Given the description of an element on the screen output the (x, y) to click on. 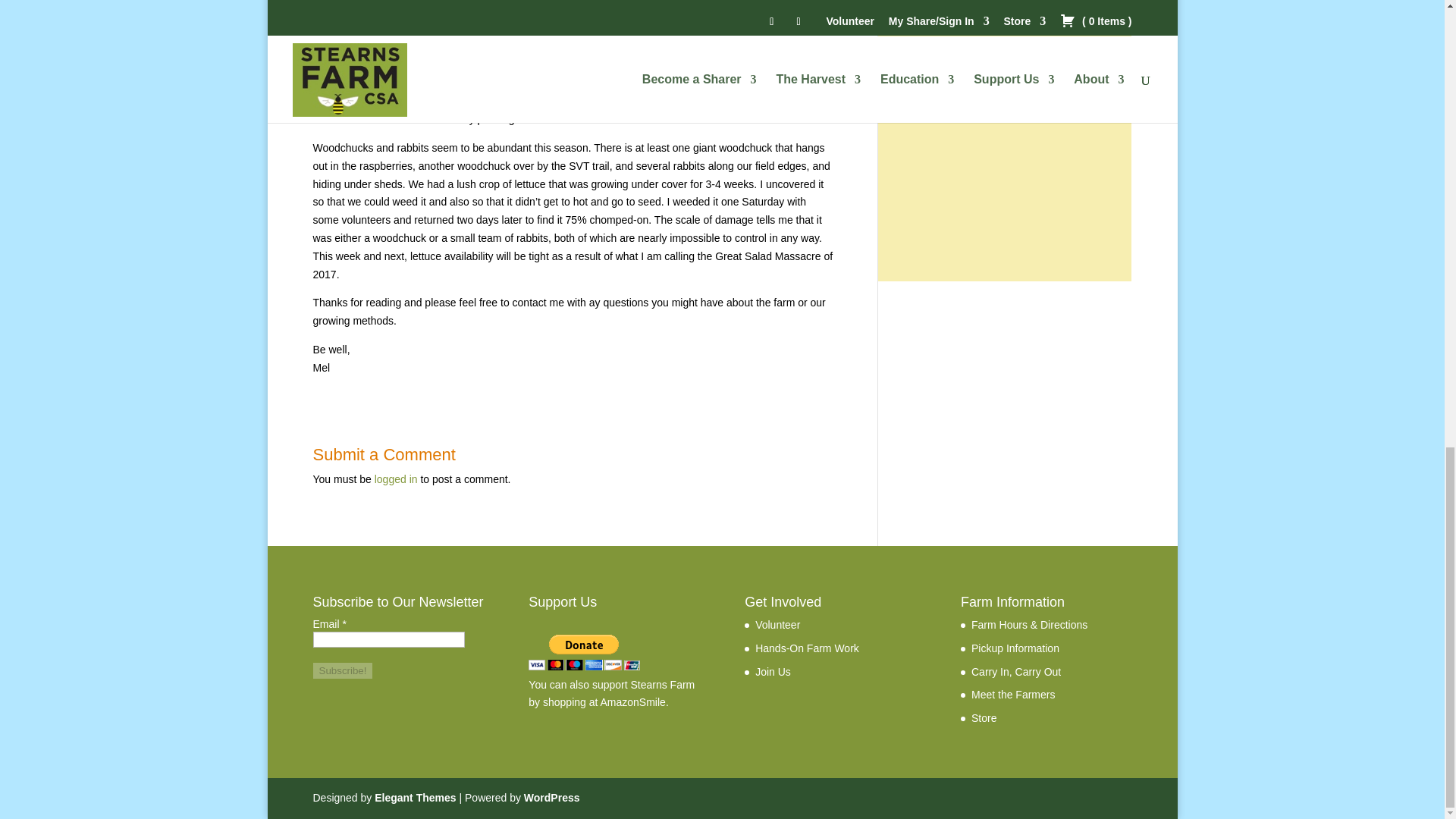
Premium WordPress Themes (414, 797)
Email (388, 639)
Subscribe! (342, 670)
